Given the description of an element on the screen output the (x, y) to click on. 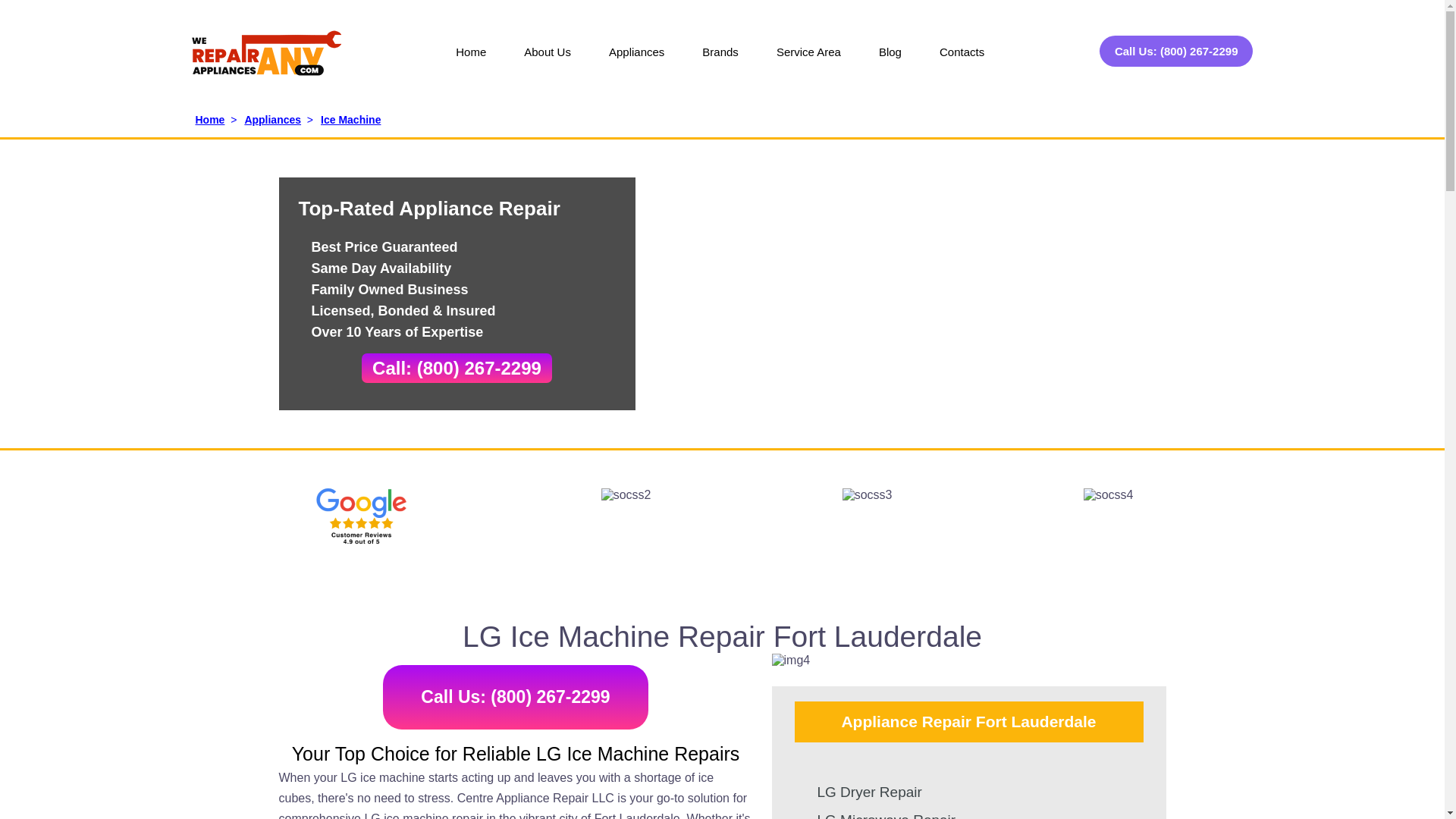
About Us (547, 62)
Brands (719, 62)
Home (470, 62)
Appliances (635, 62)
